Given the description of an element on the screen output the (x, y) to click on. 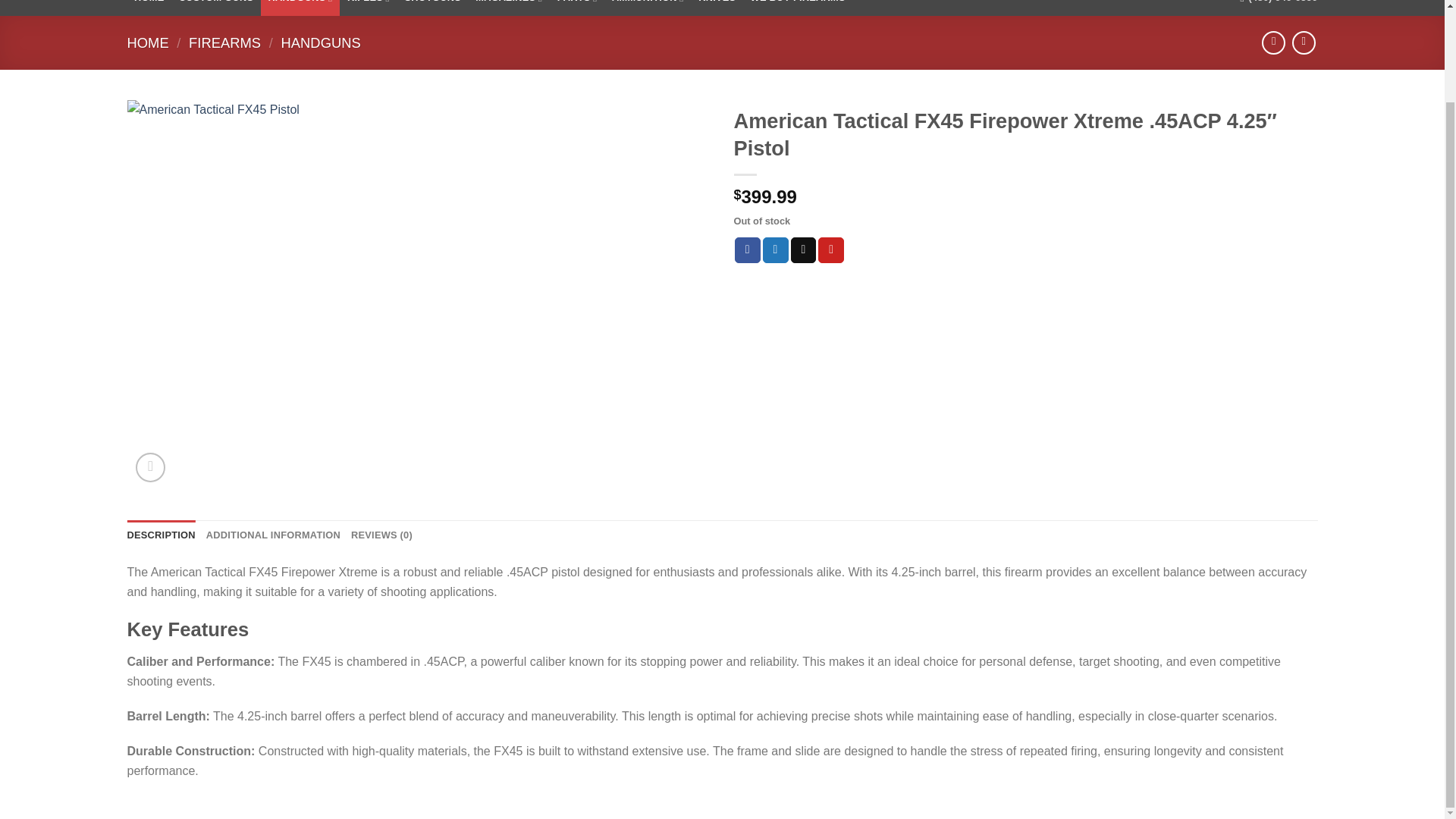
SHOTGUNS (432, 7)
Zoom (150, 467)
HOME (149, 7)
CUSTOM GUNS (215, 7)
Share on Facebook (747, 249)
Share on Twitter (775, 249)
MAGAZINES (509, 7)
PARTS (577, 7)
HANDGUNS (299, 7)
RIFLES (368, 7)
